Given the description of an element on the screen output the (x, y) to click on. 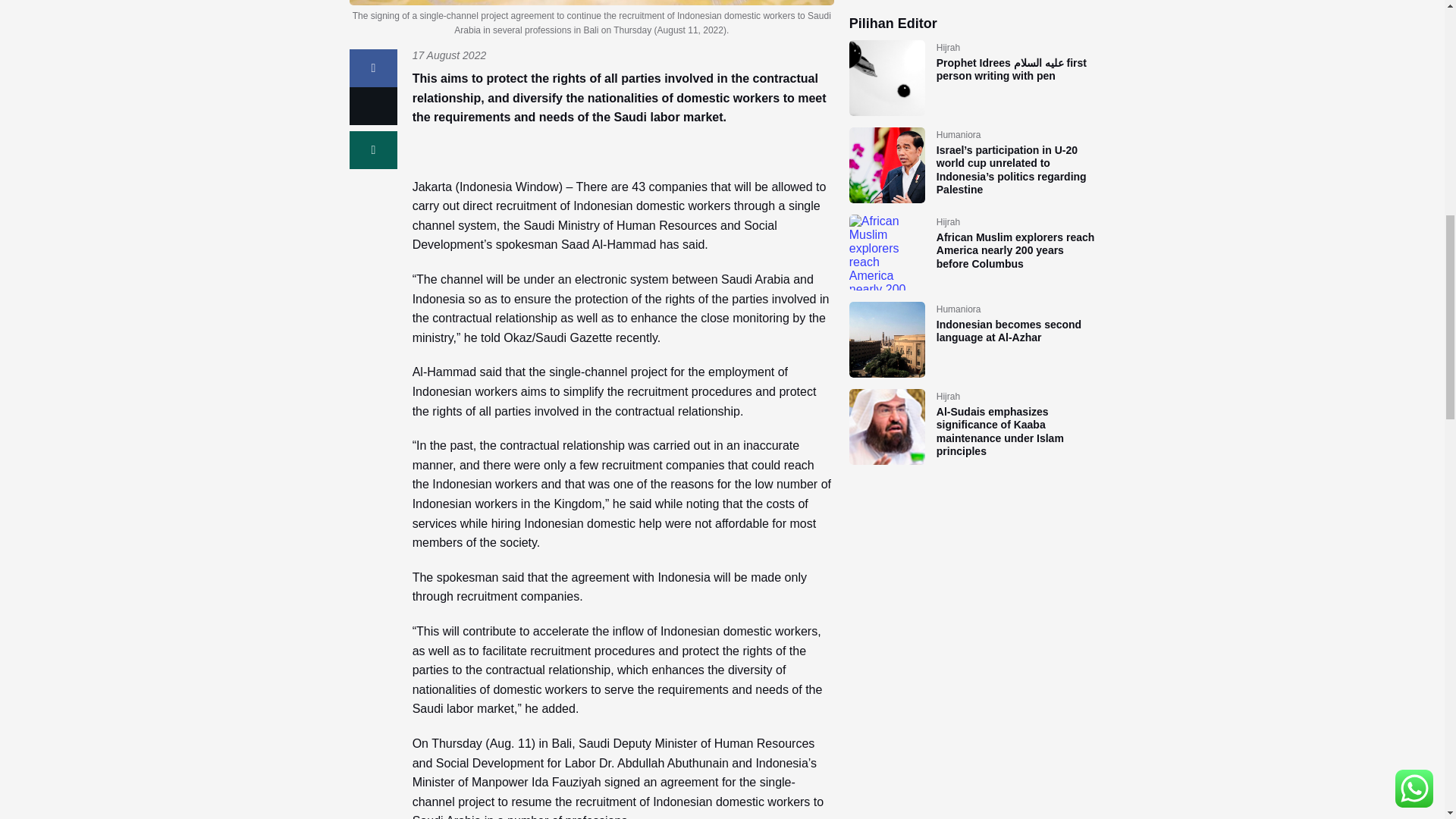
Share on Whatsapp (373, 149)
Share on Twitter (373, 105)
Share on Facebook (373, 67)
